Given the description of an element on the screen output the (x, y) to click on. 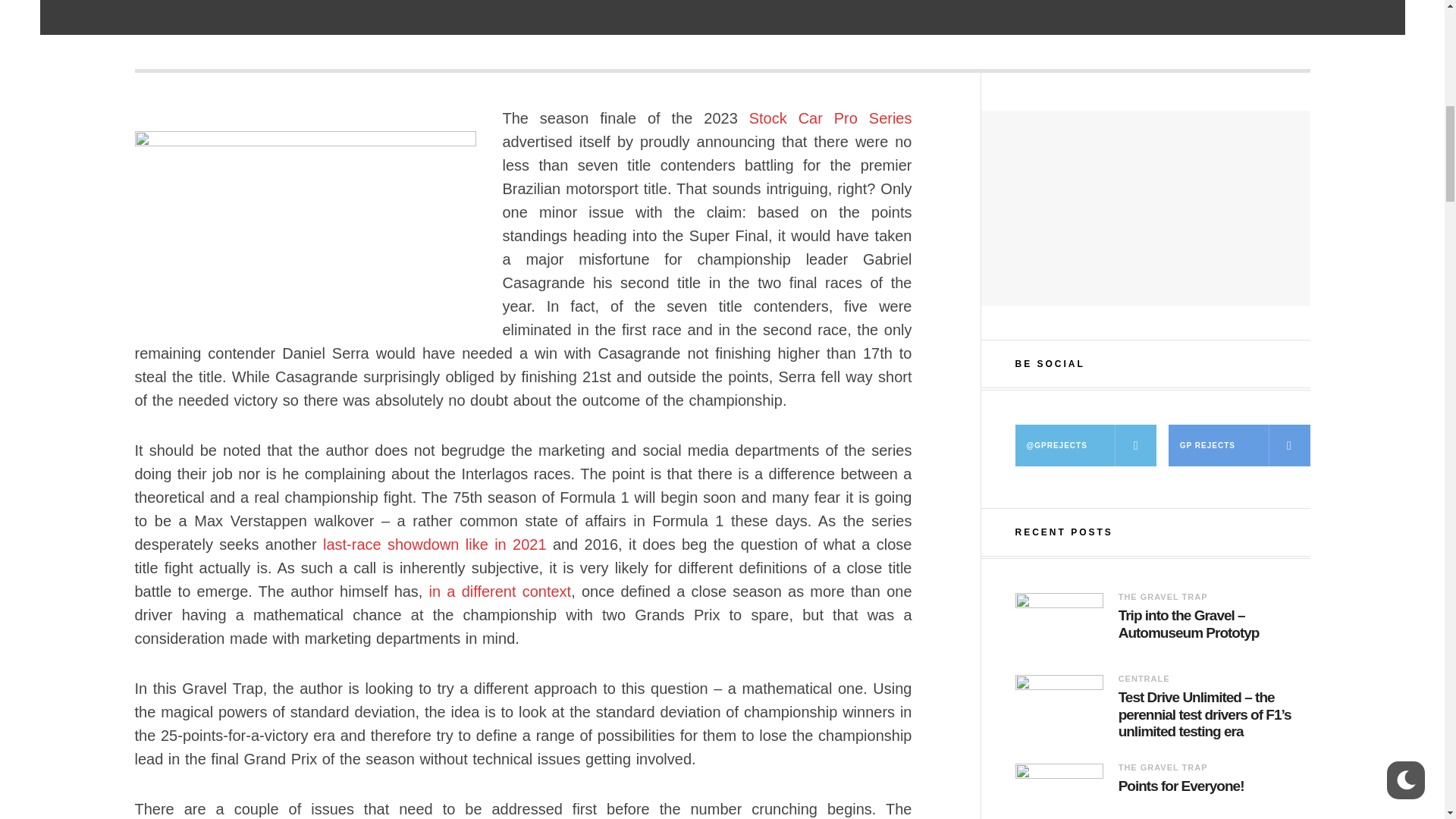
View all posts in The Gravel Trap (1163, 596)
Stock Car Pro Series (830, 117)
View all posts in Centrale (1144, 678)
View all posts in The Gravel Trap (1163, 767)
in a different context (500, 591)
last-race showdown like in 2021 (435, 544)
